Given the description of an element on the screen output the (x, y) to click on. 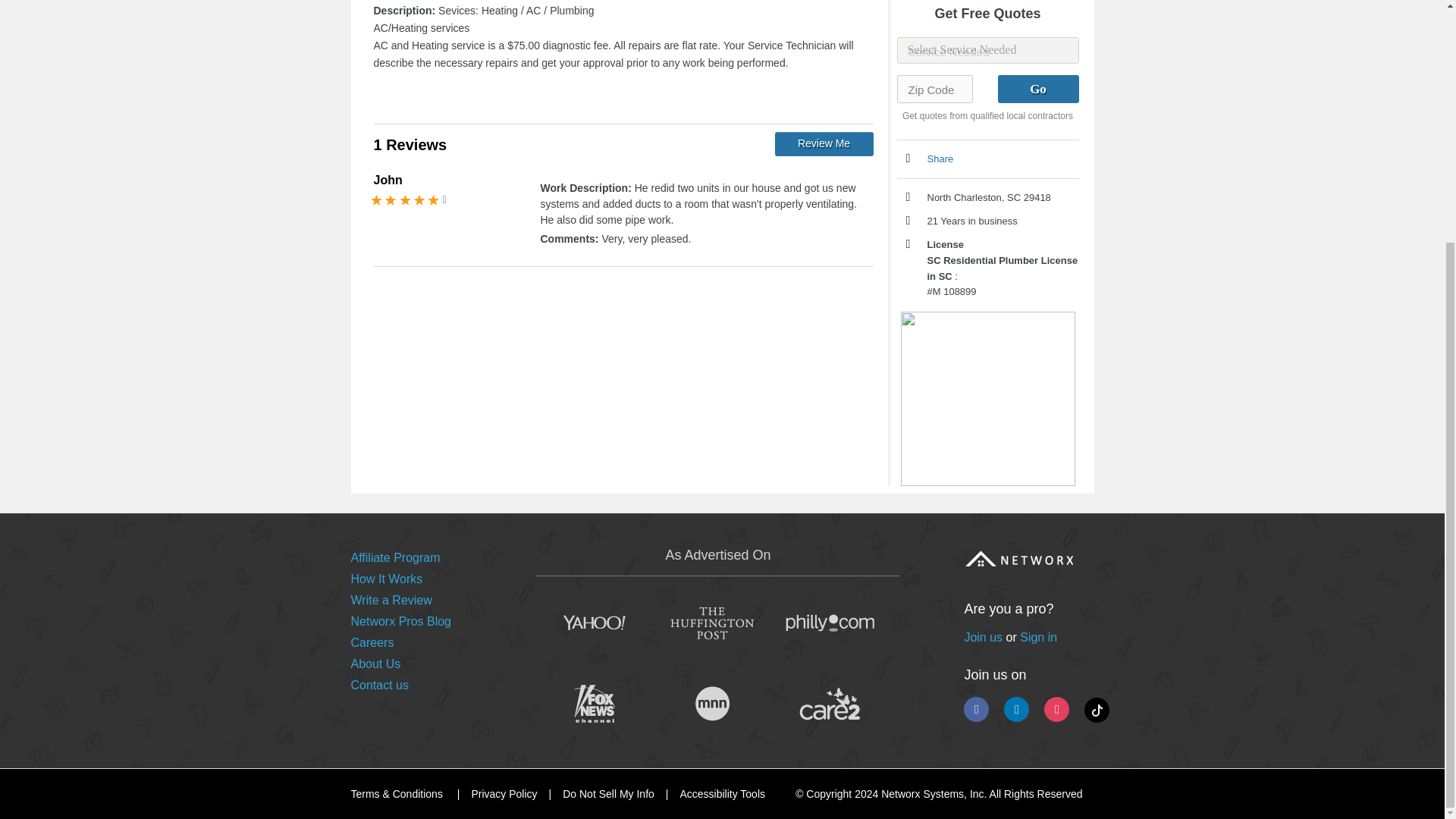
Review Me (823, 143)
Write a Review (390, 599)
Go (1037, 89)
How It Works (386, 578)
Affiliate Program (394, 557)
Go (1037, 89)
